Given the description of an element on the screen output the (x, y) to click on. 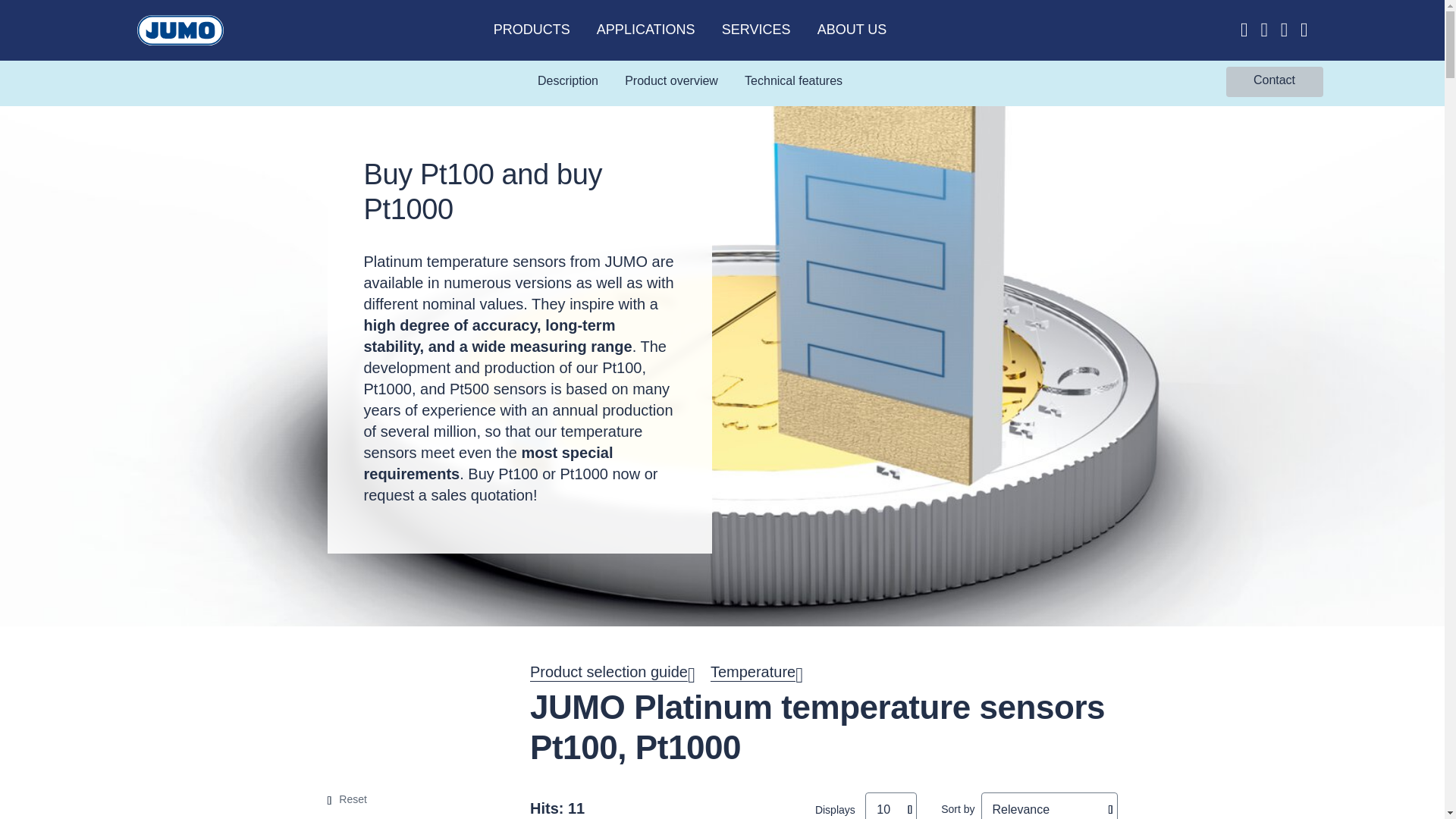
Call JUMO (1243, 30)
Relevance (1049, 805)
10 (890, 805)
Search this site (1303, 30)
Change language (1264, 30)
